Given the description of an element on the screen output the (x, y) to click on. 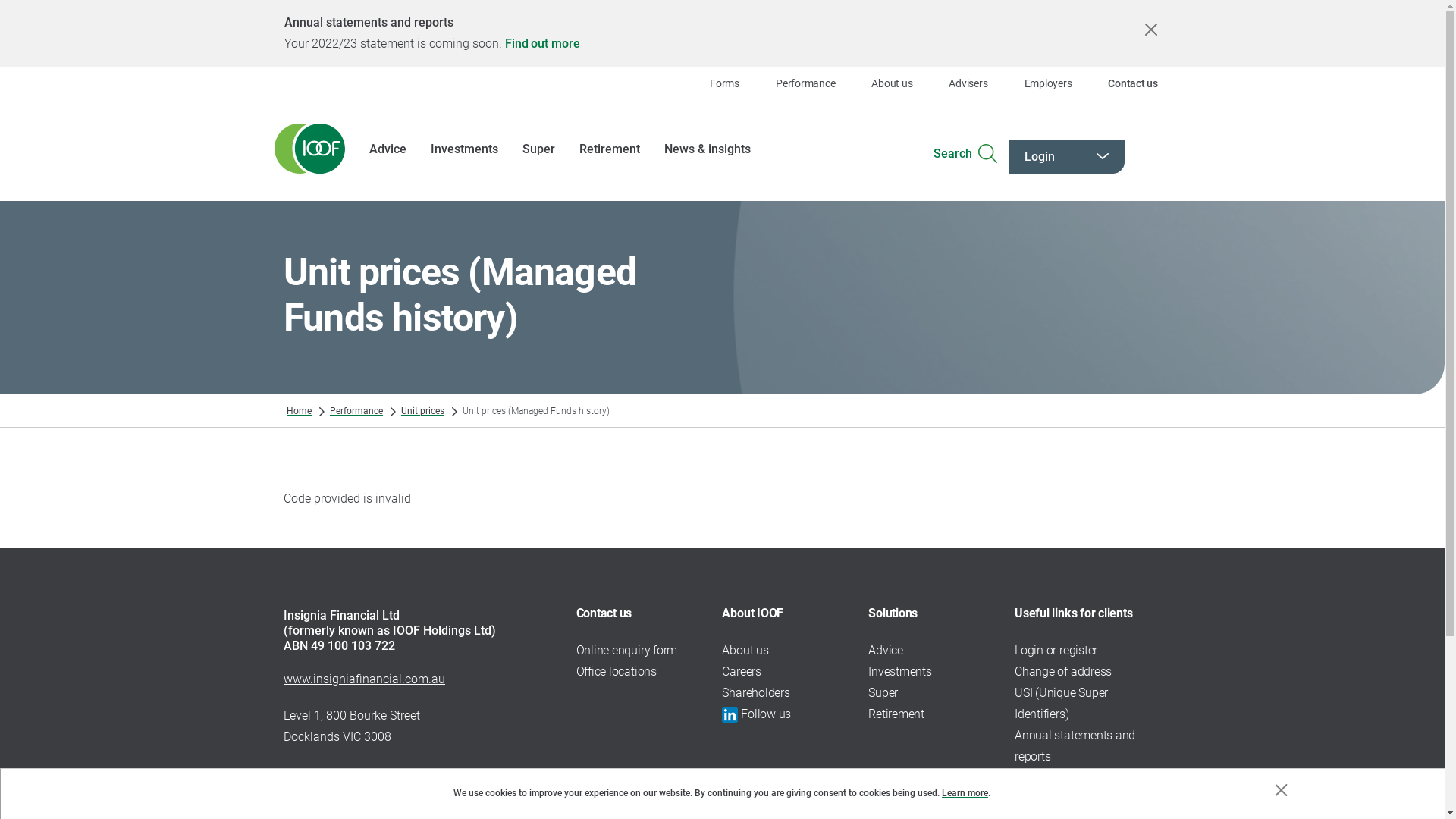
Insignia Financial Ltd Element type: text (341, 615)
Home Element type: text (298, 410)
Annual statements and reports Element type: text (1074, 745)
News & insights Element type: text (707, 143)
Super Element type: text (538, 143)
Advisers Element type: text (967, 83)
Office locations Element type: text (616, 671)
Retirement Element type: text (609, 143)
Login or register Element type: text (1055, 650)
Retirement Element type: text (896, 713)
Unit prices Element type: text (422, 410)
Careers Element type: text (740, 671)
Shareholders Element type: text (755, 692)
Super Element type: text (882, 692)
Forms Element type: text (724, 83)
Performance Element type: text (805, 83)
Advice Element type: text (885, 650)
Find out more Element type: text (542, 43)
USI (Unique Super Identifiers) Element type: text (1060, 703)
Follow us Element type: text (765, 713)
Change of address Element type: text (1062, 671)
About us Element type: text (744, 650)
Online enquiry form Element type: text (626, 650)
Investments Element type: text (464, 143)
Investments Element type: text (899, 671)
Login Element type: text (1066, 156)
About us Element type: text (891, 83)
Contact us Element type: text (1132, 83)
Employers Element type: text (1048, 83)
Search Element type: text (965, 147)
Learn more Element type: text (964, 792)
Advice Element type: text (387, 143)
Performance Element type: text (355, 410)
www.insigniafinancial.com.au Element type: text (364, 678)
